Given the description of an element on the screen output the (x, y) to click on. 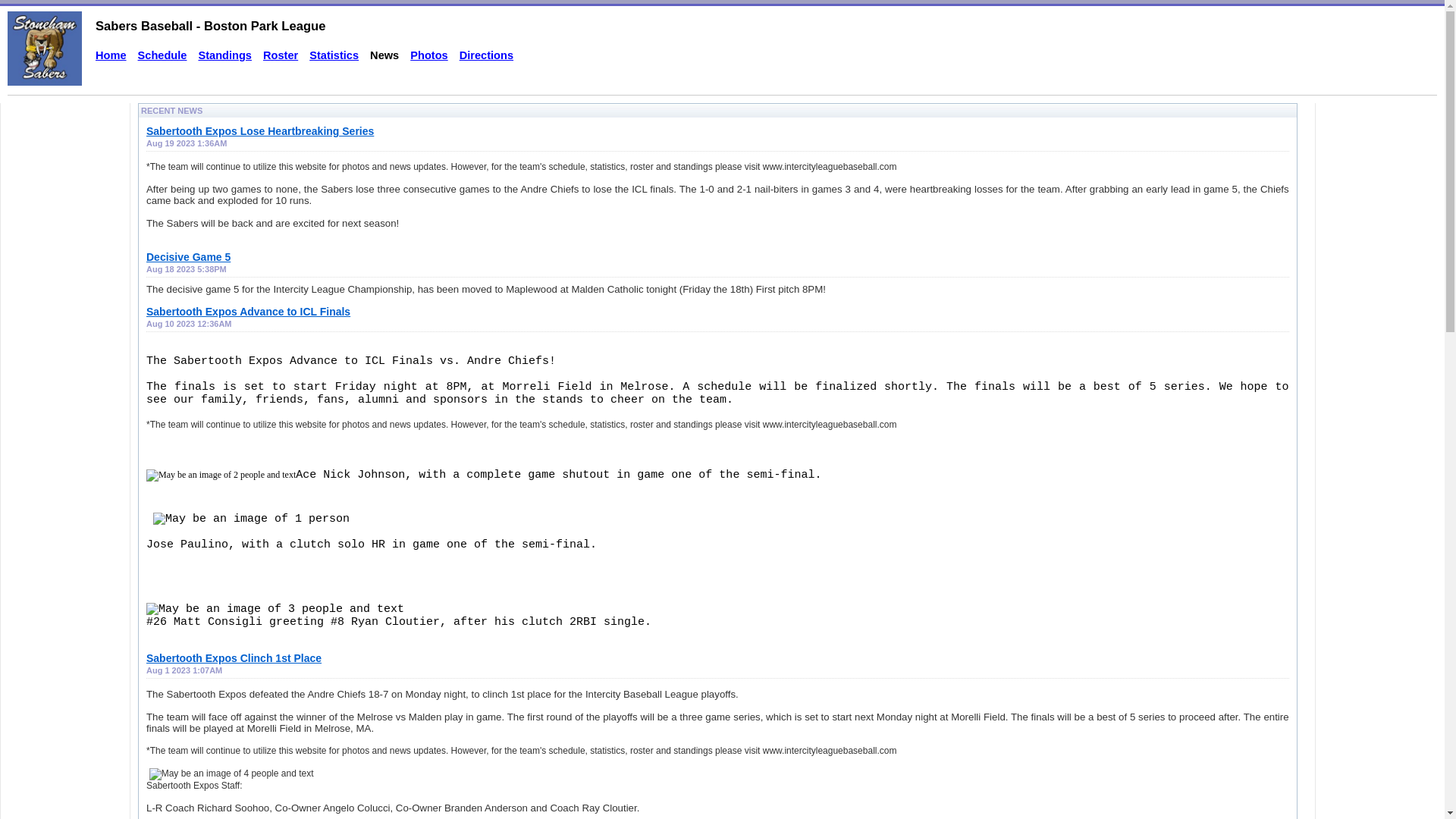
Home Element type: text (110, 55)
Sabertooth Expos Lose Heartbreaking Series Element type: text (259, 131)
Sabertooth Expos Advance to ICL Finals Element type: text (248, 311)
Directions Element type: text (486, 55)
Photos Element type: text (428, 55)
Standings Element type: text (224, 55)
Schedule Element type: text (162, 55)
Roster Element type: text (280, 55)
Statistics Element type: text (333, 55)
Decisive Game 5 Element type: text (188, 257)
Sabertooth Expos Clinch 1st Place Element type: text (233, 658)
